Given the description of an element on the screen output the (x, y) to click on. 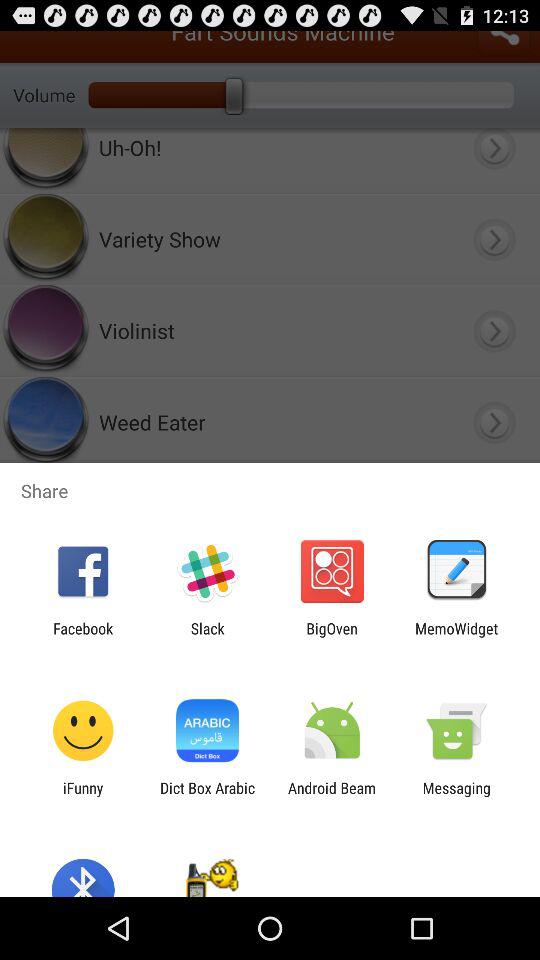
turn on item to the left of the dict box arabic icon (83, 796)
